Given the description of an element on the screen output the (x, y) to click on. 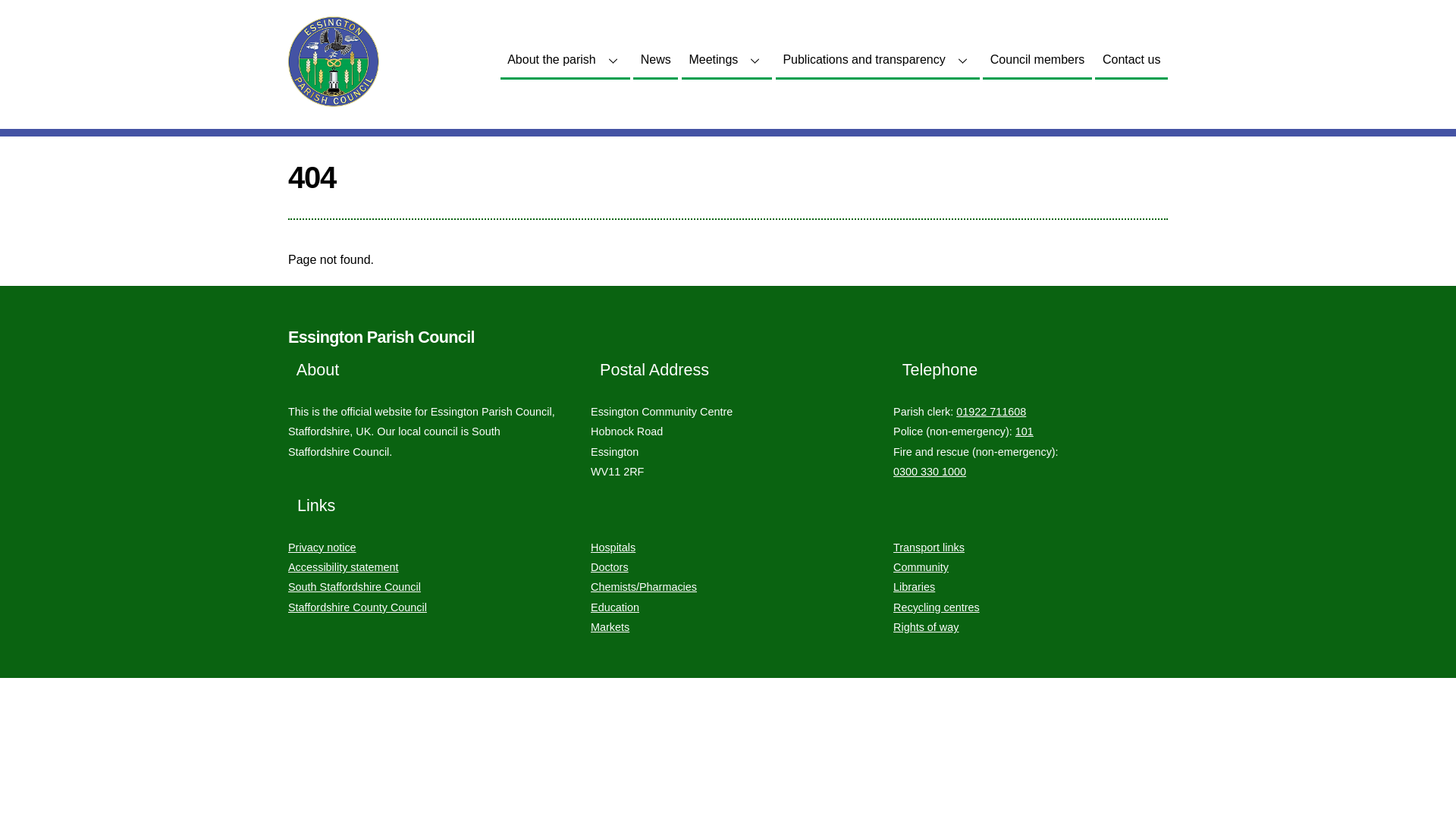
Essington Parish Council (381, 336)
Education (615, 607)
01922 711608 (991, 411)
0300 330 1000 (929, 471)
Accessibility statement (343, 567)
Markets (609, 626)
Council members (1037, 60)
Staffordshire County Council (357, 607)
Essington Parish Council (381, 336)
Publications and transparency (877, 60)
News (655, 60)
Privacy notice (322, 547)
Hospitals (612, 547)
South Staffordshire Council (354, 586)
